Given the description of an element on the screen output the (x, y) to click on. 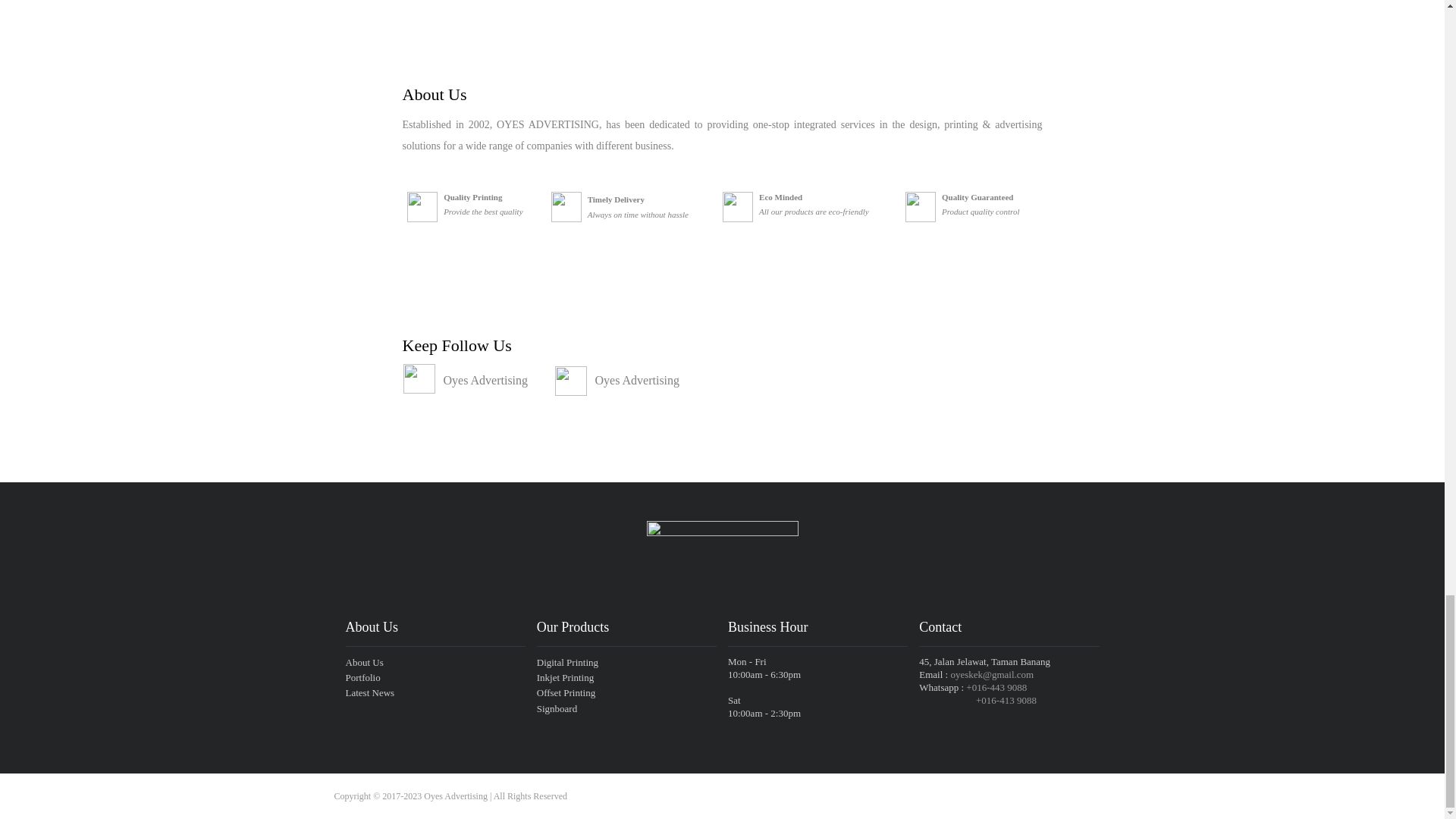
Digital Printing (626, 662)
Oyes Advertising (484, 379)
Portfolio (435, 677)
Inkjet Printing (626, 677)
Latest News (435, 693)
Oyes Advertising (636, 379)
About Us (435, 662)
